Given the description of an element on the screen output the (x, y) to click on. 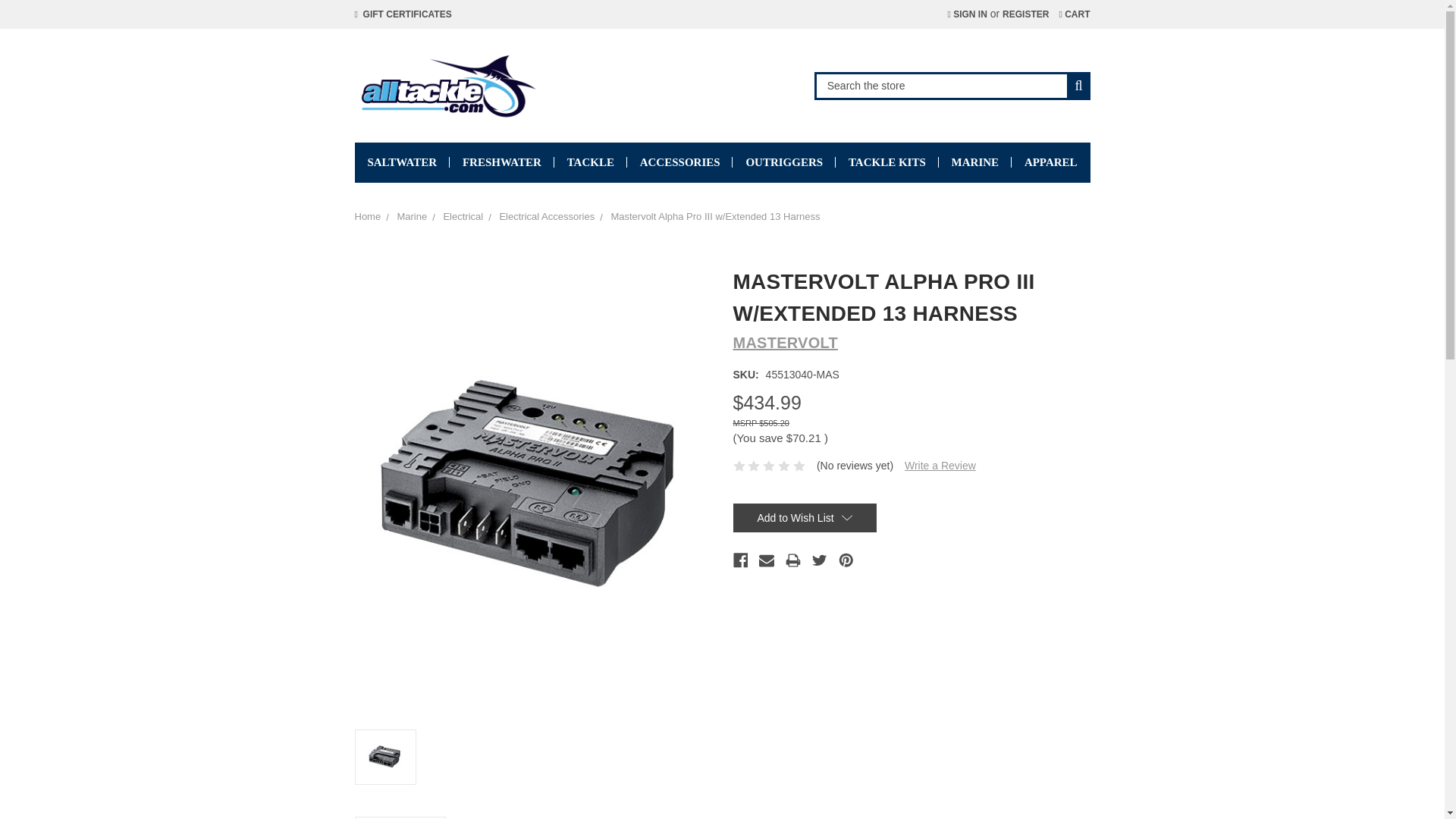
  GIFT CERTIFICATES (403, 14)
CART (1074, 14)
SIGN IN (966, 14)
alltackle.com (447, 85)
SALTWATER (401, 162)
REGISTER (1025, 14)
